Given the description of an element on the screen output the (x, y) to click on. 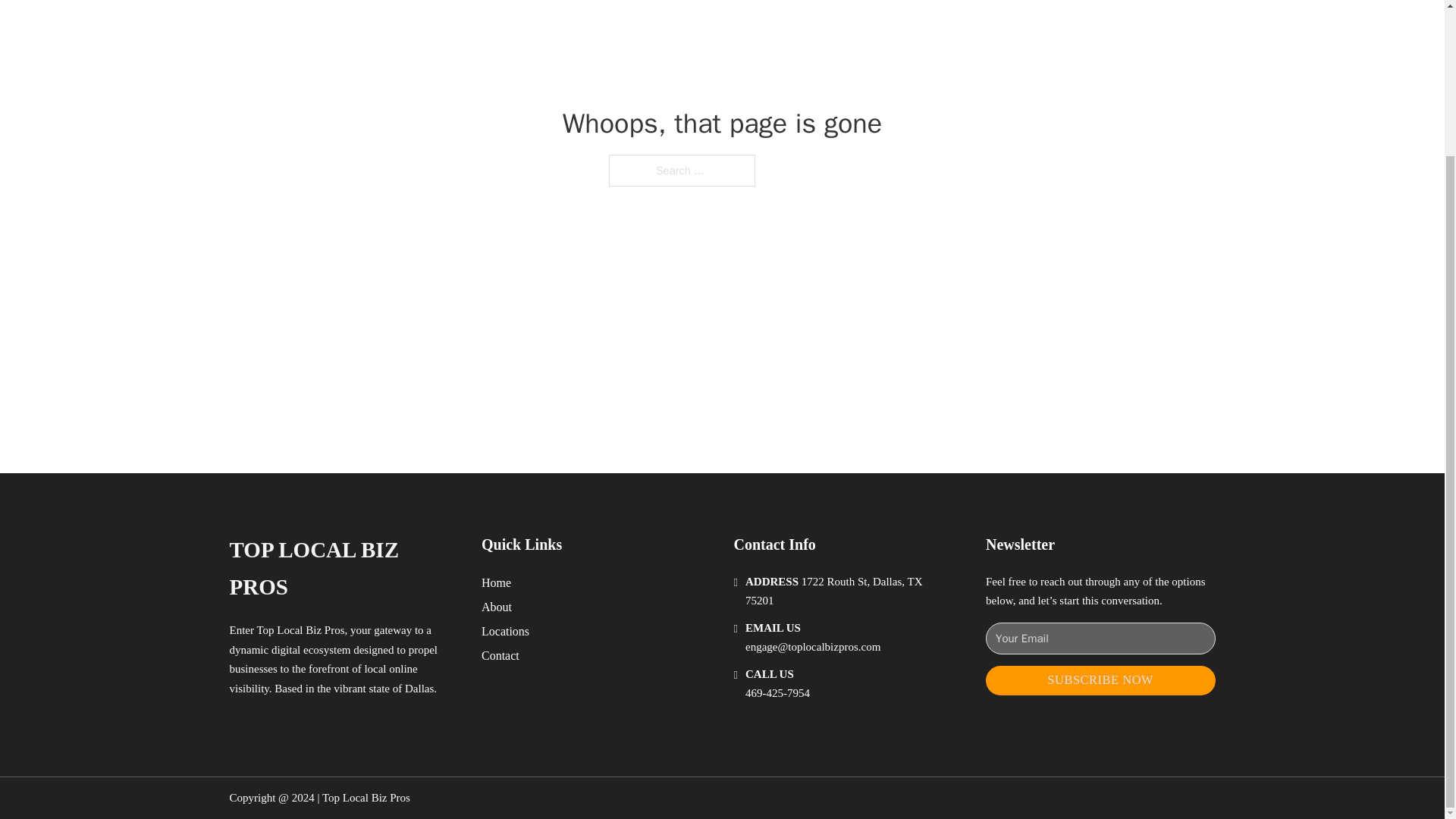
TOP LOCAL BIZ PROS (343, 568)
About (496, 607)
SUBSCRIBE NOW (1100, 680)
Contact (500, 655)
Home (496, 582)
Locations (505, 630)
469-425-7954 (777, 693)
